Given the description of an element on the screen output the (x, y) to click on. 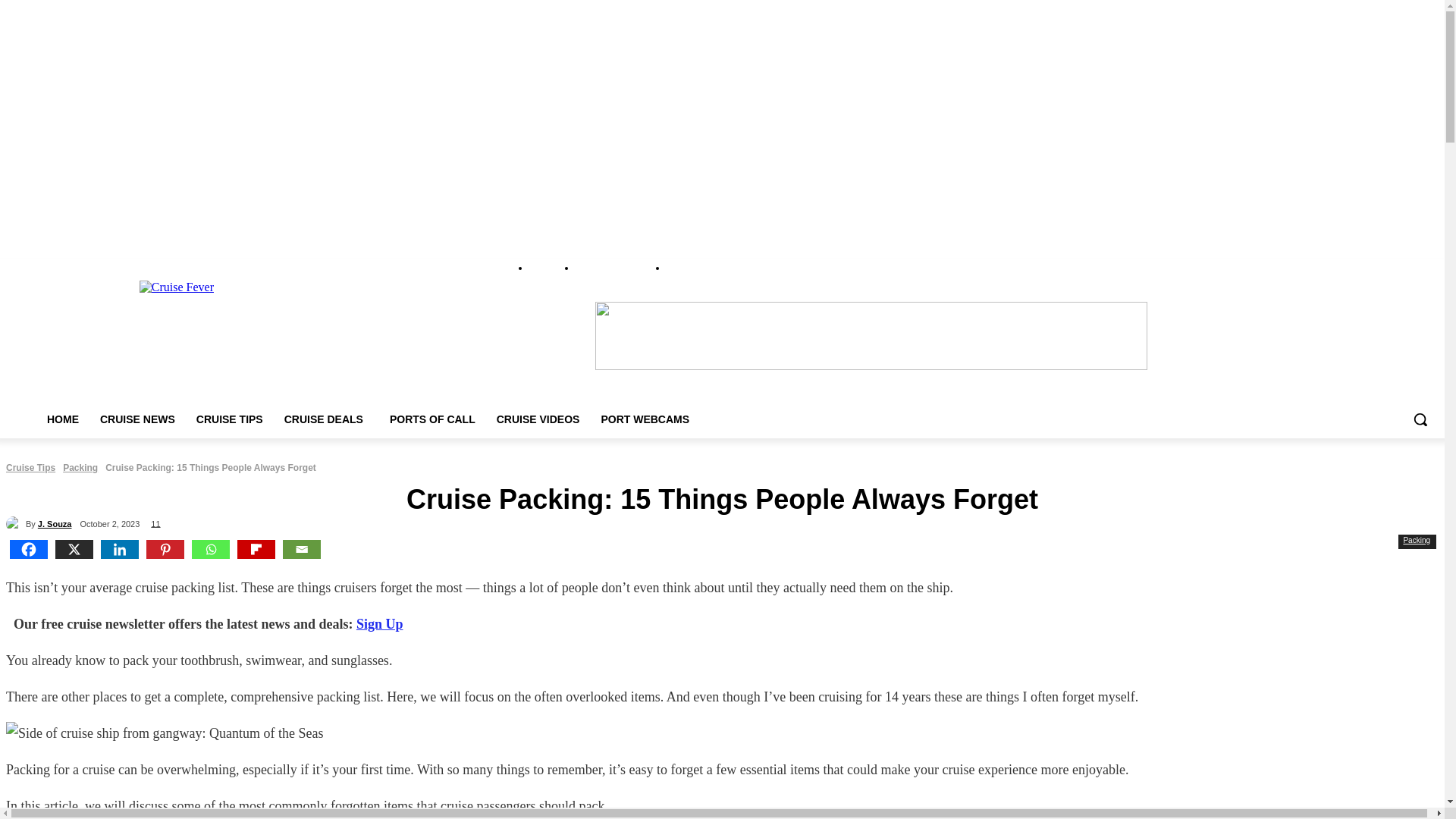
About Us (546, 268)
Pinterest (1387, 269)
HOME (62, 419)
CRUISE NEWS (137, 419)
CRUISE TIPS (229, 419)
Advertiser Disclosure (615, 268)
Instagram (1366, 269)
Facebook (1345, 269)
CRUISE DEALS (325, 419)
Contact (680, 268)
